Given the description of an element on the screen output the (x, y) to click on. 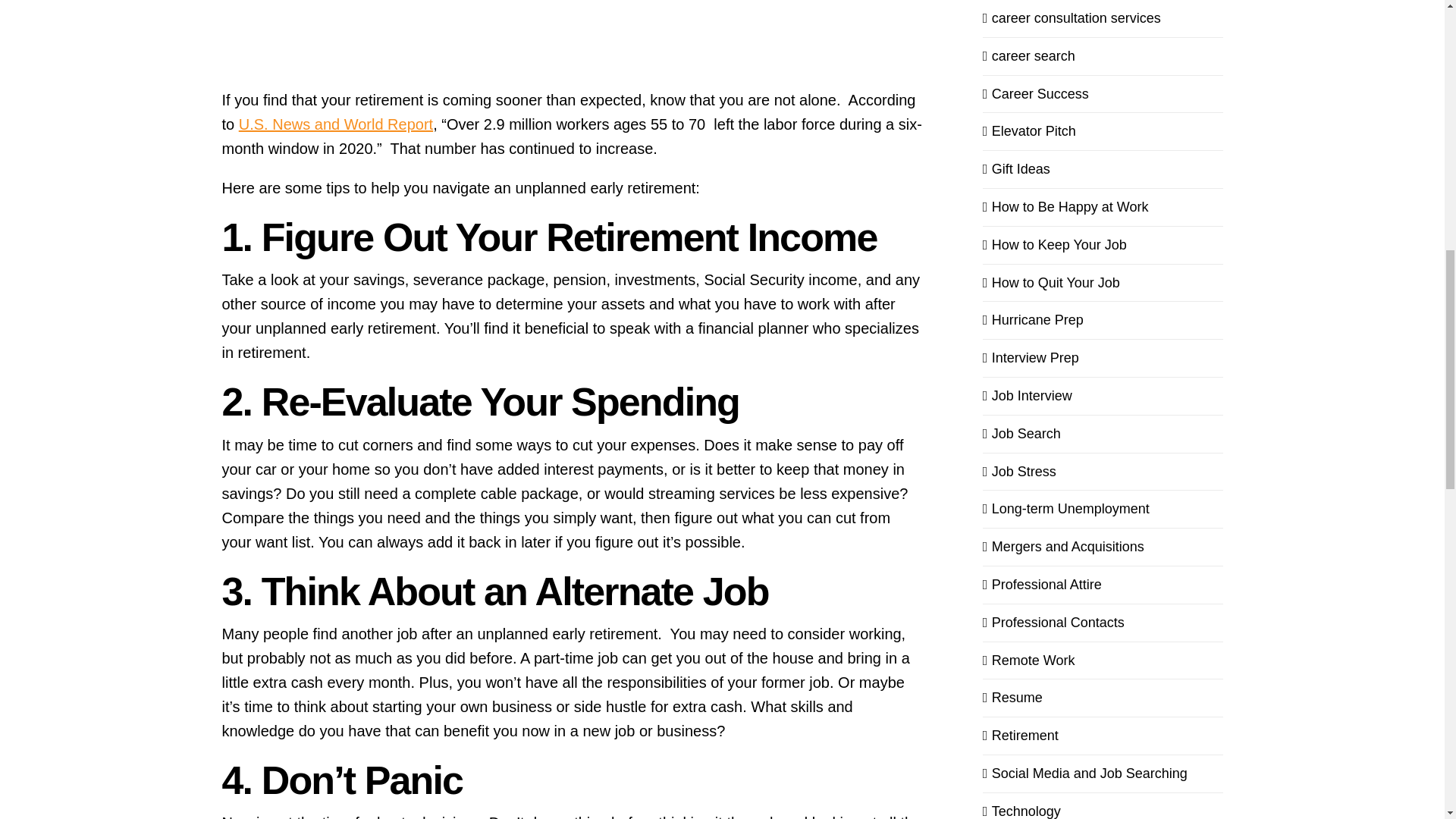
Job Search (1103, 434)
Hurricane Prep (1103, 320)
Career Success (1103, 94)
Job Interview (1103, 395)
How to Quit Your Job (1103, 282)
career search (1103, 56)
U.S. News and World Report (335, 124)
How to Be Happy at Work (1103, 207)
Elevator Pitch (1103, 131)
Professional Attire (1103, 585)
Long-term Unemployment (1103, 508)
Job Stress (1103, 472)
Interview Prep (1103, 358)
career consultation services (1103, 18)
Mergers and Acquisitions (1103, 546)
